Given the description of an element on the screen output the (x, y) to click on. 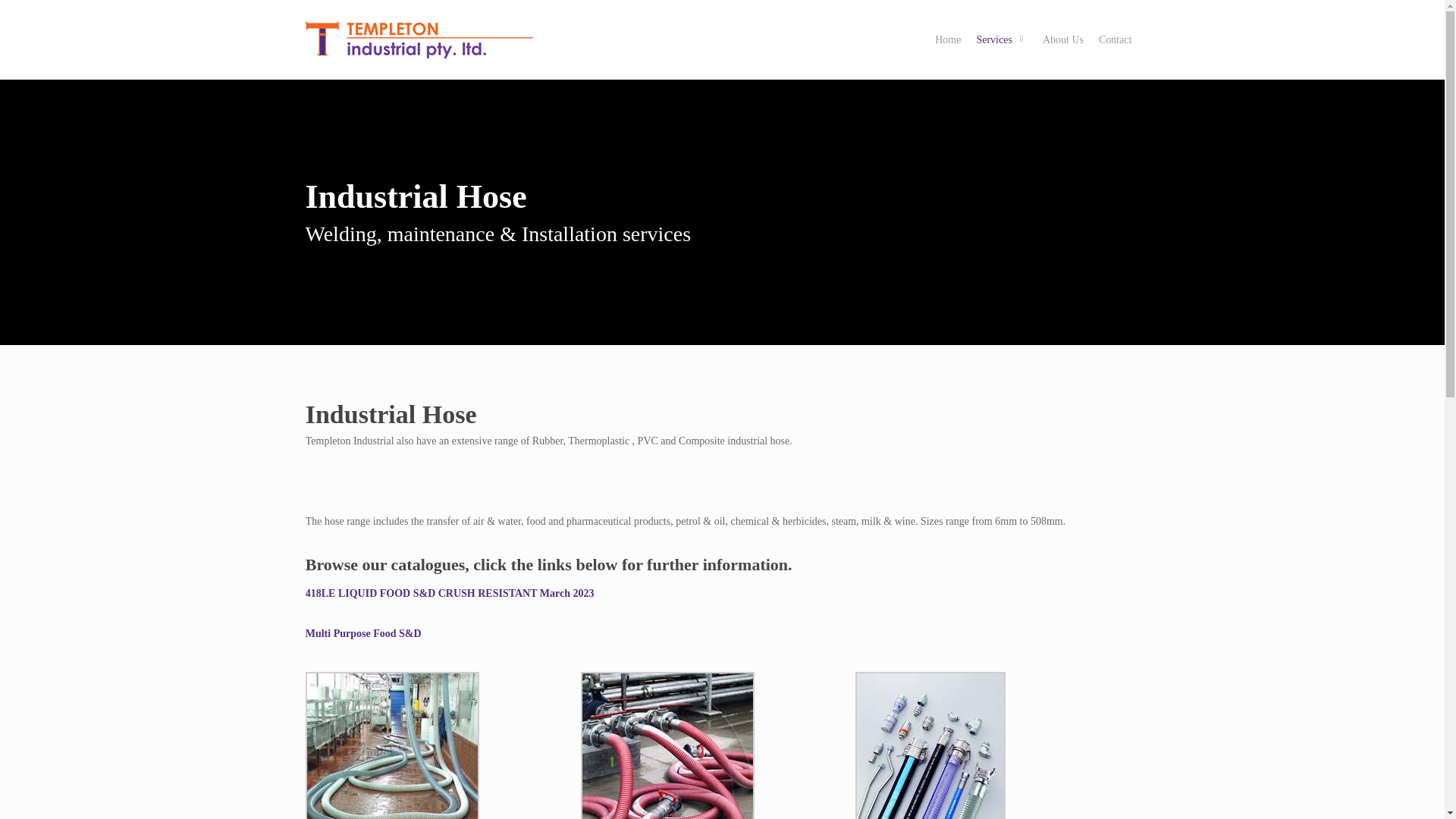
Home (947, 38)
Contact (1115, 38)
About Us (1062, 38)
Services (1000, 38)
